Given the description of an element on the screen output the (x, y) to click on. 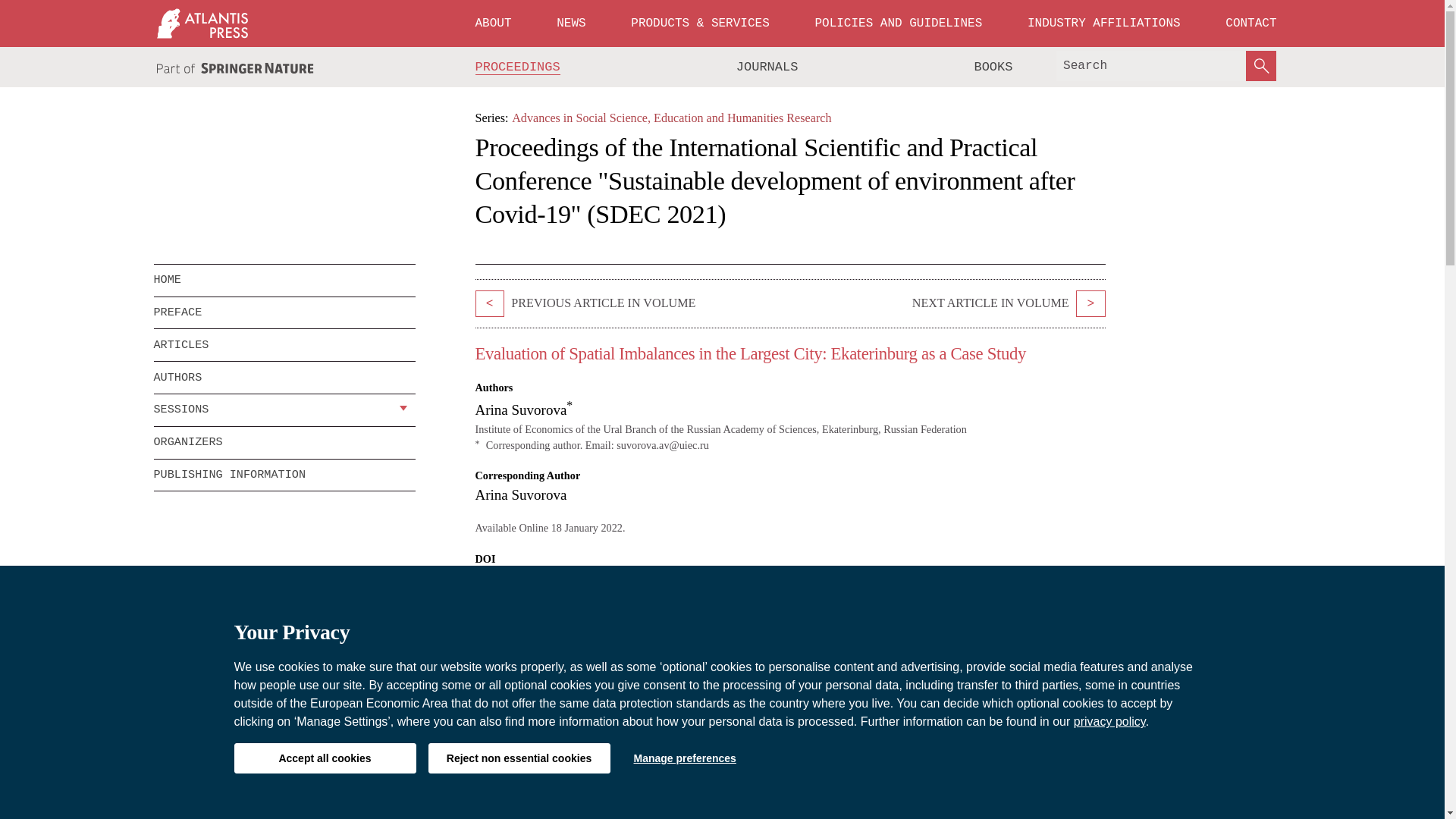
POLICIES AND GUIDELINES (897, 23)
BOOKS (992, 66)
Manage preferences (683, 757)
Atlantis Press is Part of Springer Nature (234, 67)
Reject non essential cookies (519, 757)
HOME (283, 280)
PUBLISHING INFORMATION (283, 475)
Accept all cookies (323, 757)
NEWS (570, 23)
SESSIONS (273, 409)
AUTHORS (283, 377)
ORGANIZERS (283, 442)
privacy policy (1109, 721)
